Given the description of an element on the screen output the (x, y) to click on. 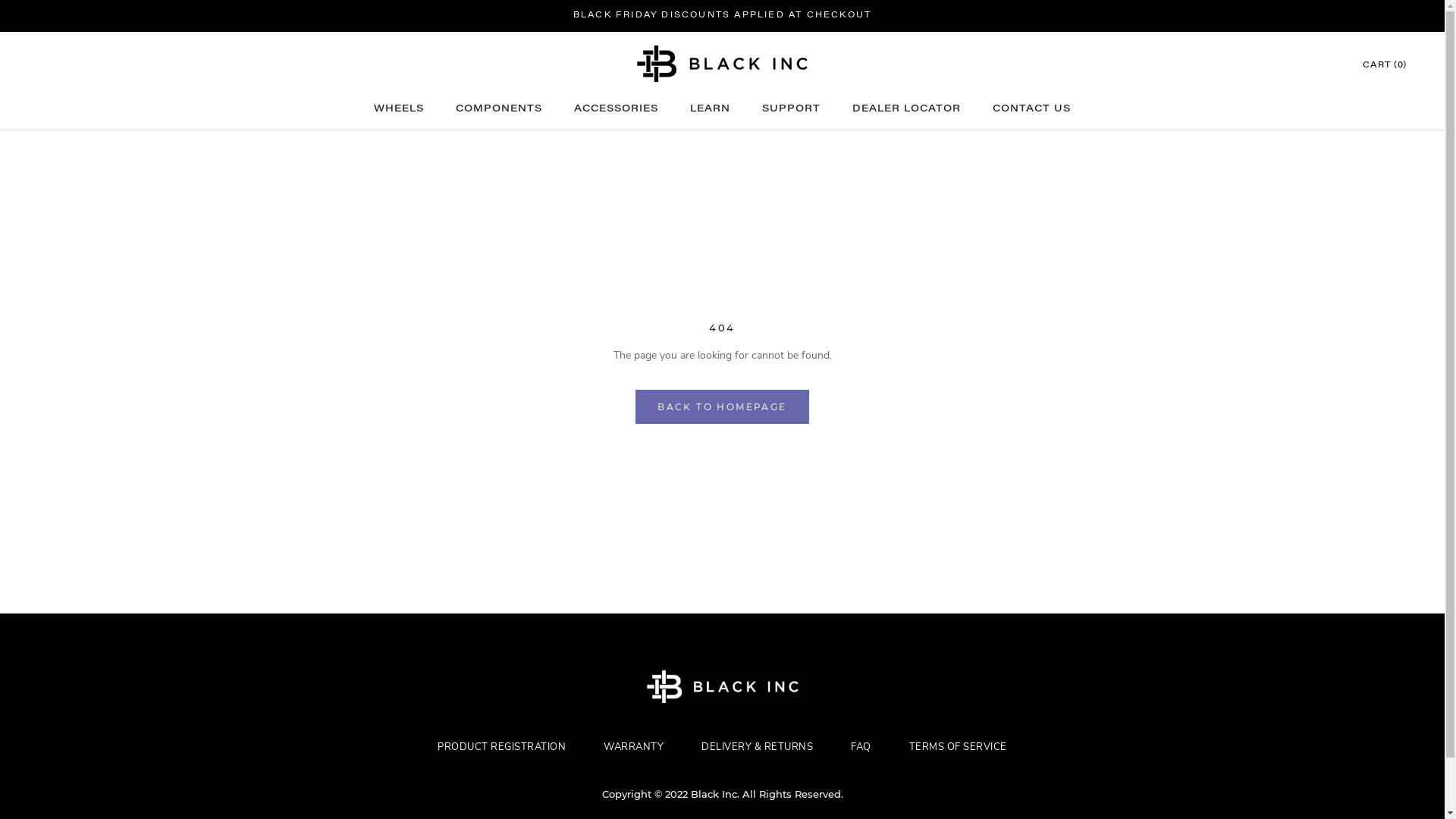
PRODUCT REGISTRATION Element type: text (501, 746)
ACCESSORIES
ACCESSORIES Element type: text (616, 108)
TERMS OF SERVICE Element type: text (958, 746)
LEARN Element type: text (710, 108)
CART (0) Element type: text (1384, 65)
DELIVERY & RETURNS Element type: text (756, 746)
BACK TO HOMEPAGE Element type: text (721, 406)
WARRANTY Element type: text (633, 746)
SUPPORT Element type: text (791, 108)
FAQ Element type: text (860, 746)
CONTACT US
CONTACT US Element type: text (1031, 108)
WHEELS
WHEELS Element type: text (398, 108)
DEALER LOCATOR
DEALER LOCATOR Element type: text (906, 108)
COMPONENTS
COMPONENTS Element type: text (498, 108)
